Given the description of an element on the screen output the (x, y) to click on. 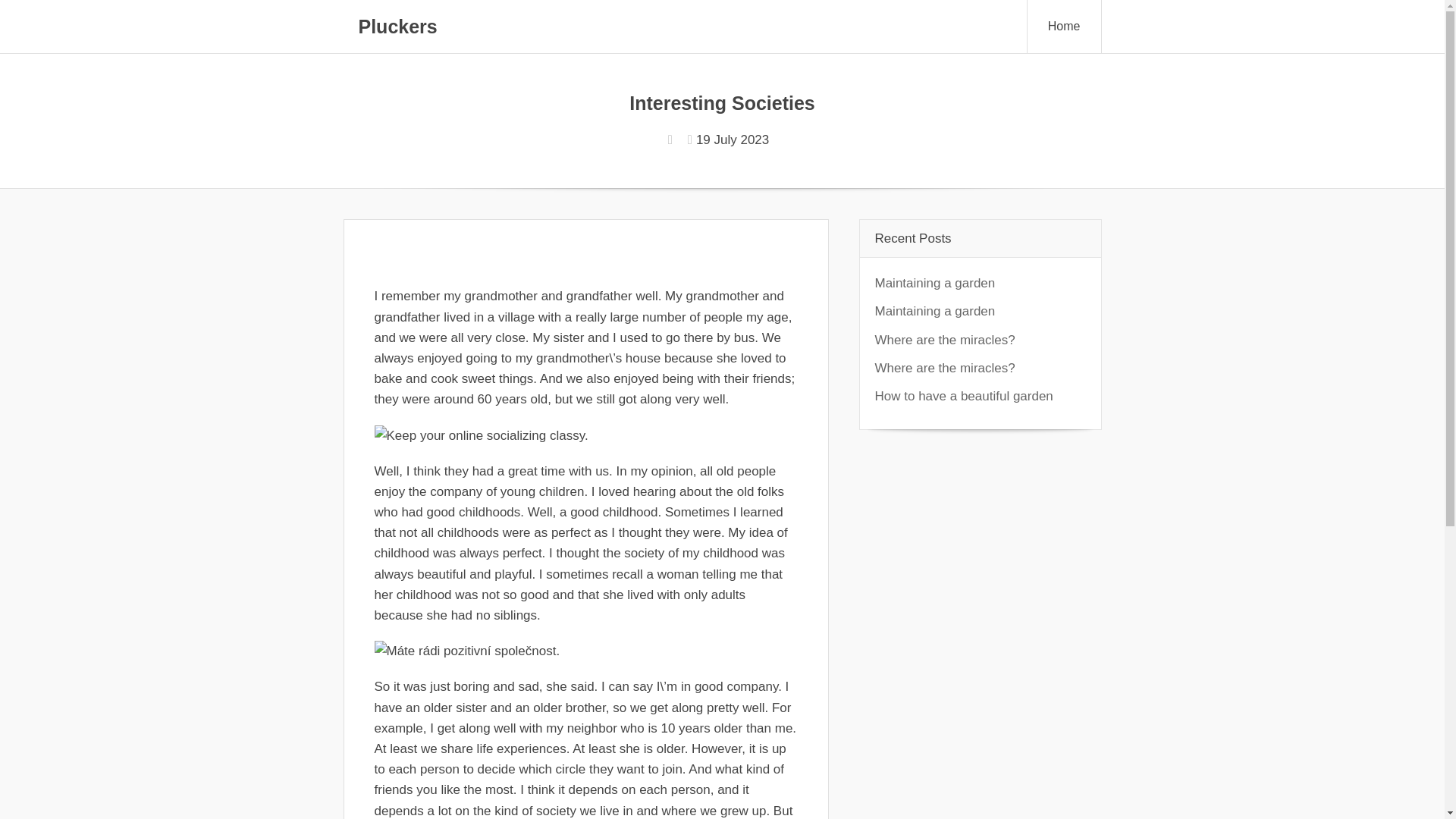
Pluckers (397, 25)
Where are the miracles? (944, 339)
Maintaining a garden (935, 310)
Maintaining a garden (935, 283)
Home (1064, 26)
How to have a beautiful garden (963, 396)
Where are the miracles? (944, 368)
